Given the description of an element on the screen output the (x, y) to click on. 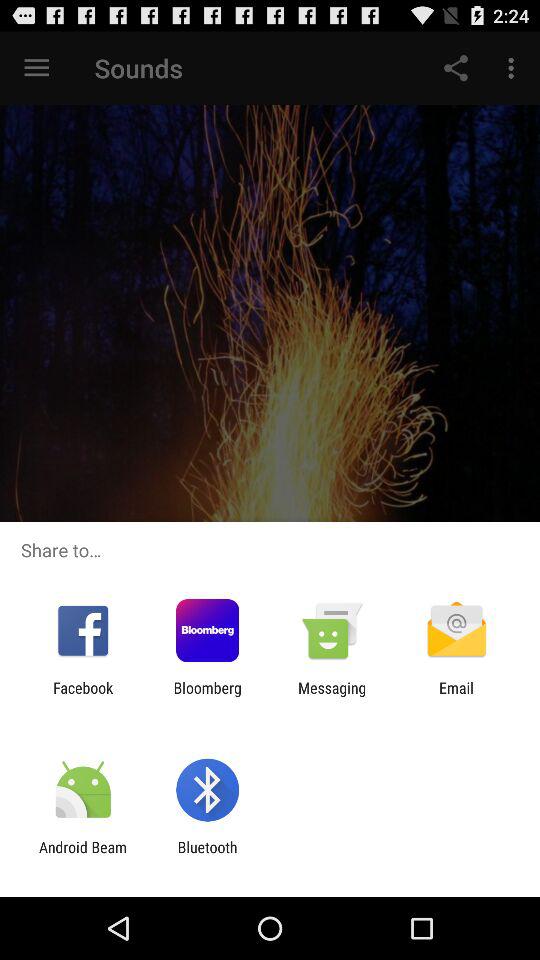
select the facebook icon (83, 696)
